Given the description of an element on the screen output the (x, y) to click on. 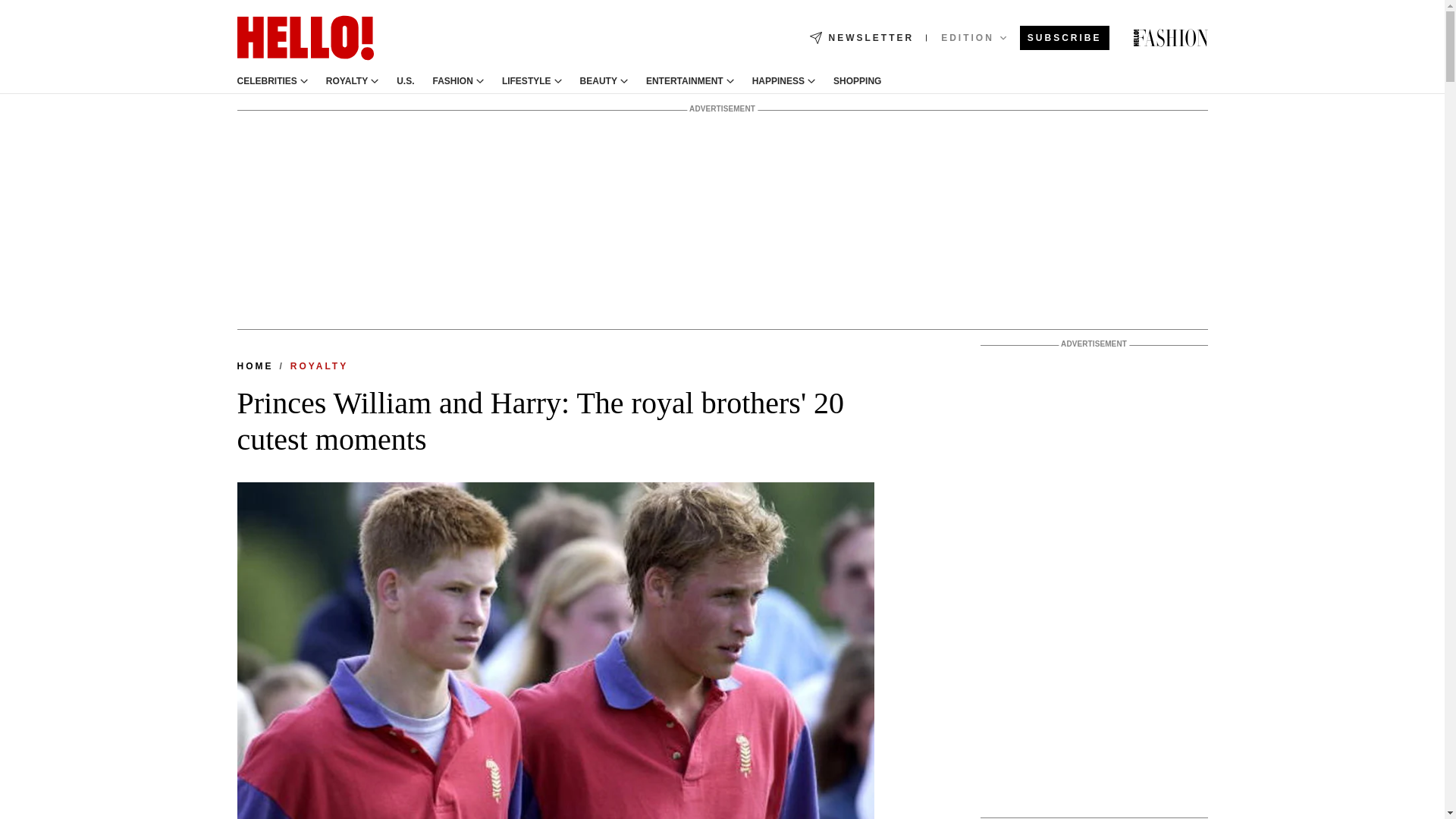
CELEBRITIES (266, 81)
NEWSLETTER (861, 38)
FASHION (452, 81)
U.S. (404, 81)
BEAUTY (598, 81)
ROYALTY (347, 81)
